Given the description of an element on the screen output the (x, y) to click on. 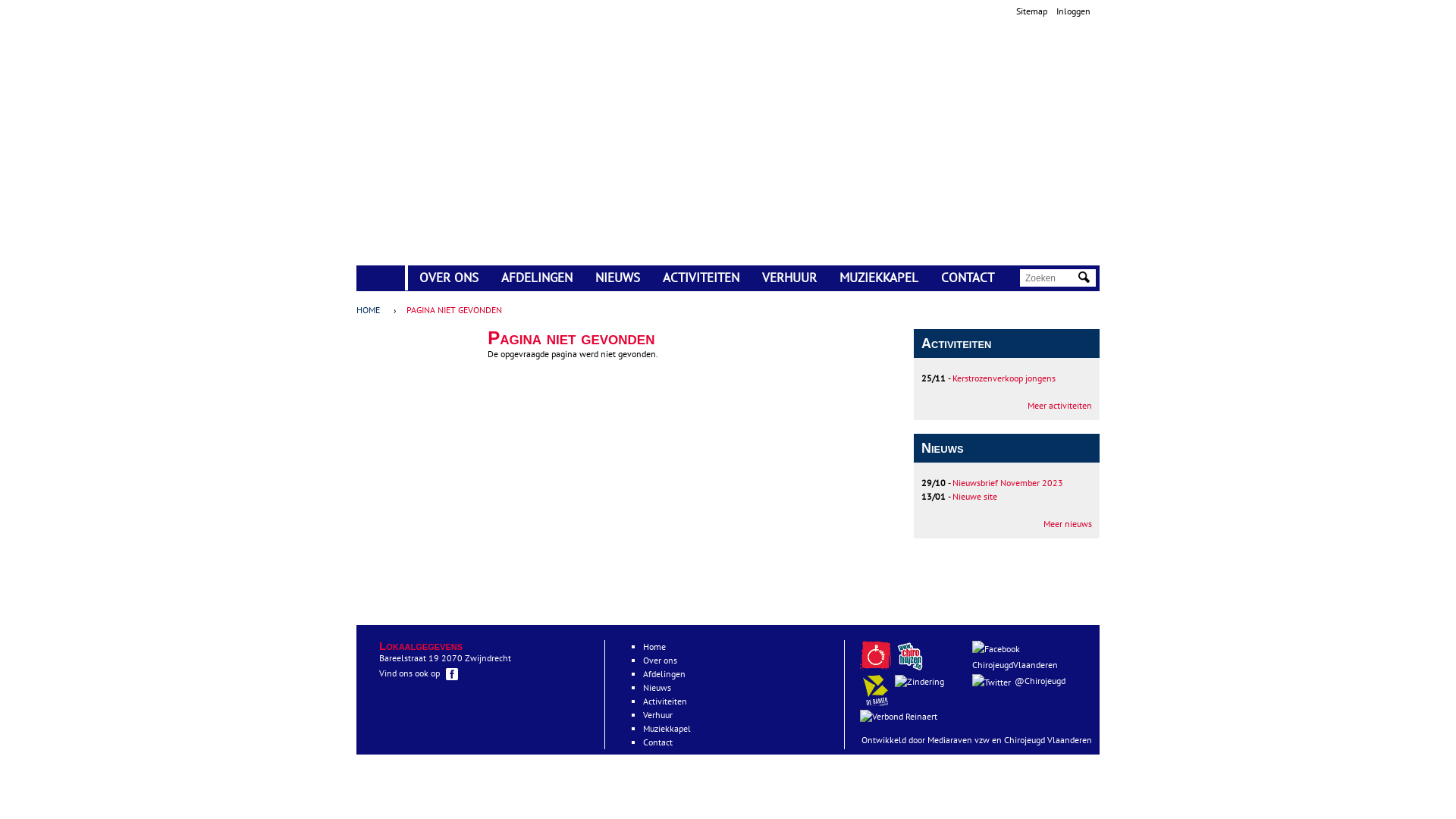
Nieuws Element type: text (657, 687)
Home Element type: text (654, 646)
Verbond Reinaert Element type: hover (898, 716)
Zindering Element type: hover (920, 681)
Nieuwsbrief November 2023 Element type: text (1007, 482)
Zindering Element type: hover (900, 715)
HOME Element type: text (371, 309)
Afdelingen Element type: text (664, 673)
CHIRO ZWIJNDRECHT Element type: text (630, 236)
Chirojeugd Vlaanderen Element type: text (1048, 739)
Chirohuizen Element type: hover (911, 667)
De Banier Element type: hover (876, 702)
Chirohuizen Element type: hover (909, 655)
AFDELINGEN Element type: text (536, 278)
ACTIVITEITEN Element type: text (700, 278)
Verhuur Element type: text (657, 714)
Meer activiteiten Element type: text (1059, 405)
Twitter Element type: hover (991, 682)
HOME Element type: text (380, 271)
ChirojeugdVlaanderen Element type: text (1028, 656)
Mediaraven vzw Element type: text (958, 739)
Contact Element type: text (657, 741)
Muziekkapel Element type: text (666, 728)
Chirojeugd Vlaanderen Element type: hover (876, 667)
MUZIEKKAPEL Element type: text (878, 278)
Nieuwe site Element type: text (974, 496)
CONTACT Element type: text (967, 278)
OVER ONS Element type: text (448, 278)
Meer nieuws Element type: text (1067, 523)
Inloggen Element type: text (1073, 10)
VERHUUR Element type: text (789, 278)
Zindering Element type: hover (919, 681)
@Chirojeugd Element type: text (1028, 681)
Geef de woorden op waarnaar u wilt zoeken. Element type: hover (1049, 277)
Over ons Element type: text (660, 659)
Facebook Element type: hover (451, 674)
Sitemap Element type: text (1031, 10)
De Banier Element type: hover (875, 690)
Home Element type: hover (407, 215)
Activiteiten Element type: text (665, 700)
NIEUWS Element type: text (617, 278)
Chirojeugd Vlaanderen Element type: hover (875, 655)
Kerstrozenverkoop jongens Element type: text (1003, 377)
Facebook Element type: hover (995, 648)
